Given the description of an element on the screen output the (x, y) to click on. 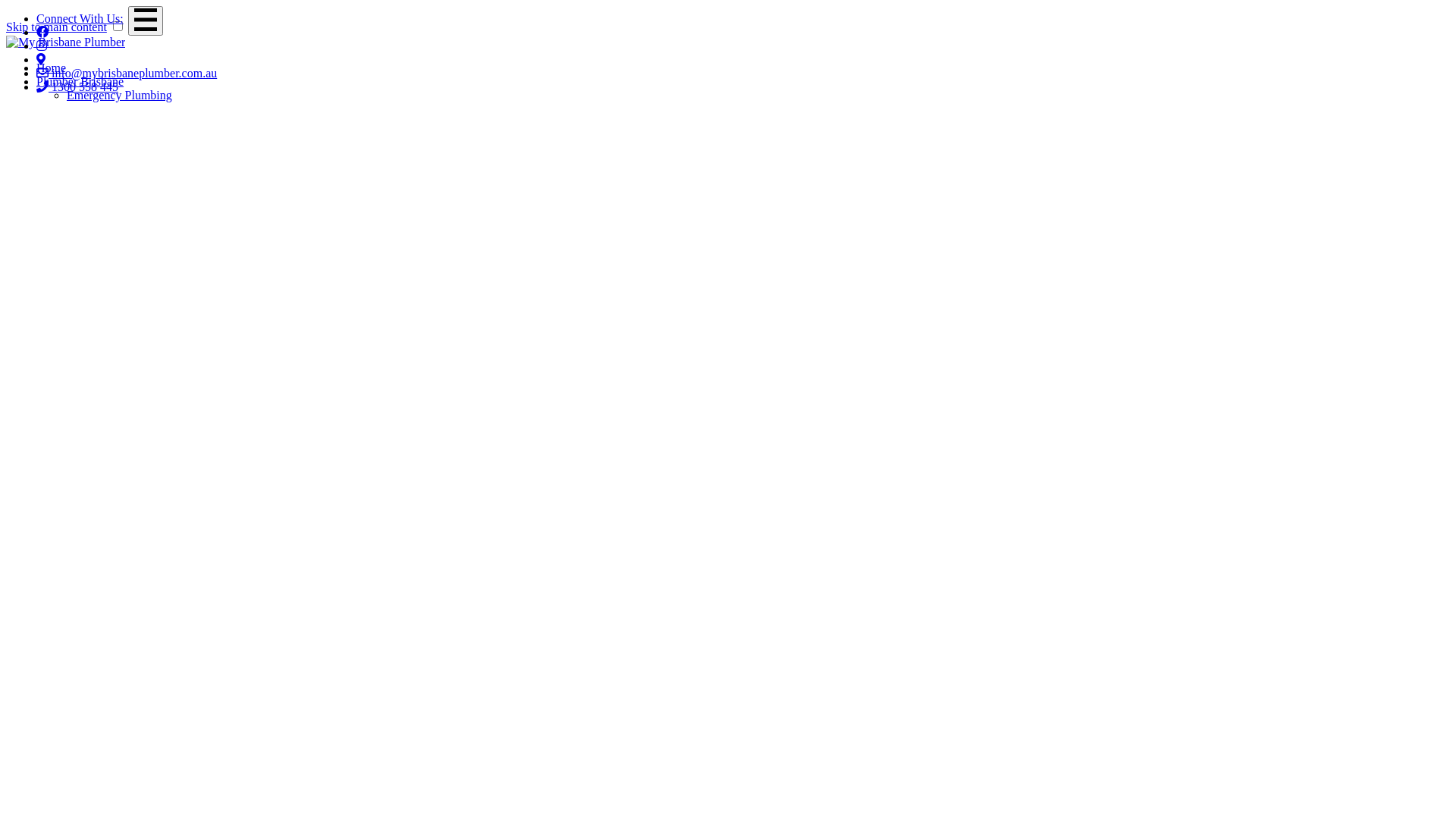
Home Element type: text (50, 67)
Plumber Brisbane Element type: text (79, 81)
Emergency Plumbing Element type: text (119, 94)
Connect With Us: Element type: text (79, 18)
info@mybrisbaneplumber.com.au Element type: text (126, 72)
Skip to main content Element type: text (56, 26)
1300 558 445 Element type: text (77, 86)
